Given the description of an element on the screen output the (x, y) to click on. 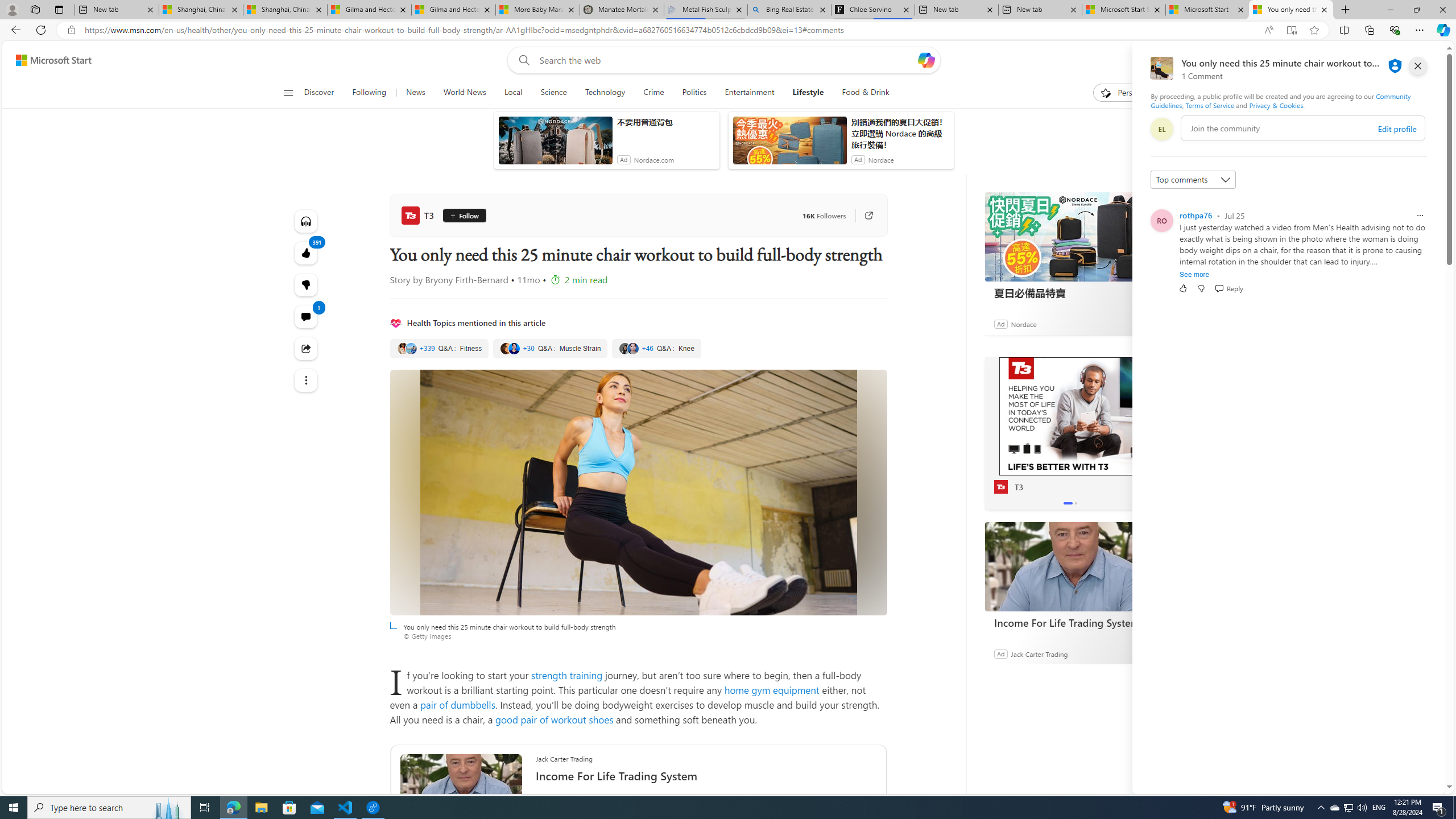
Notifications (1397, 60)
Profile Picture (1161, 220)
comment-box (1302, 127)
Follow (463, 215)
Politics (694, 92)
Like (1182, 287)
Community Guidelines (1280, 100)
Sort comments by (1193, 179)
Knee (656, 348)
Politics (694, 92)
